Given the description of an element on the screen output the (x, y) to click on. 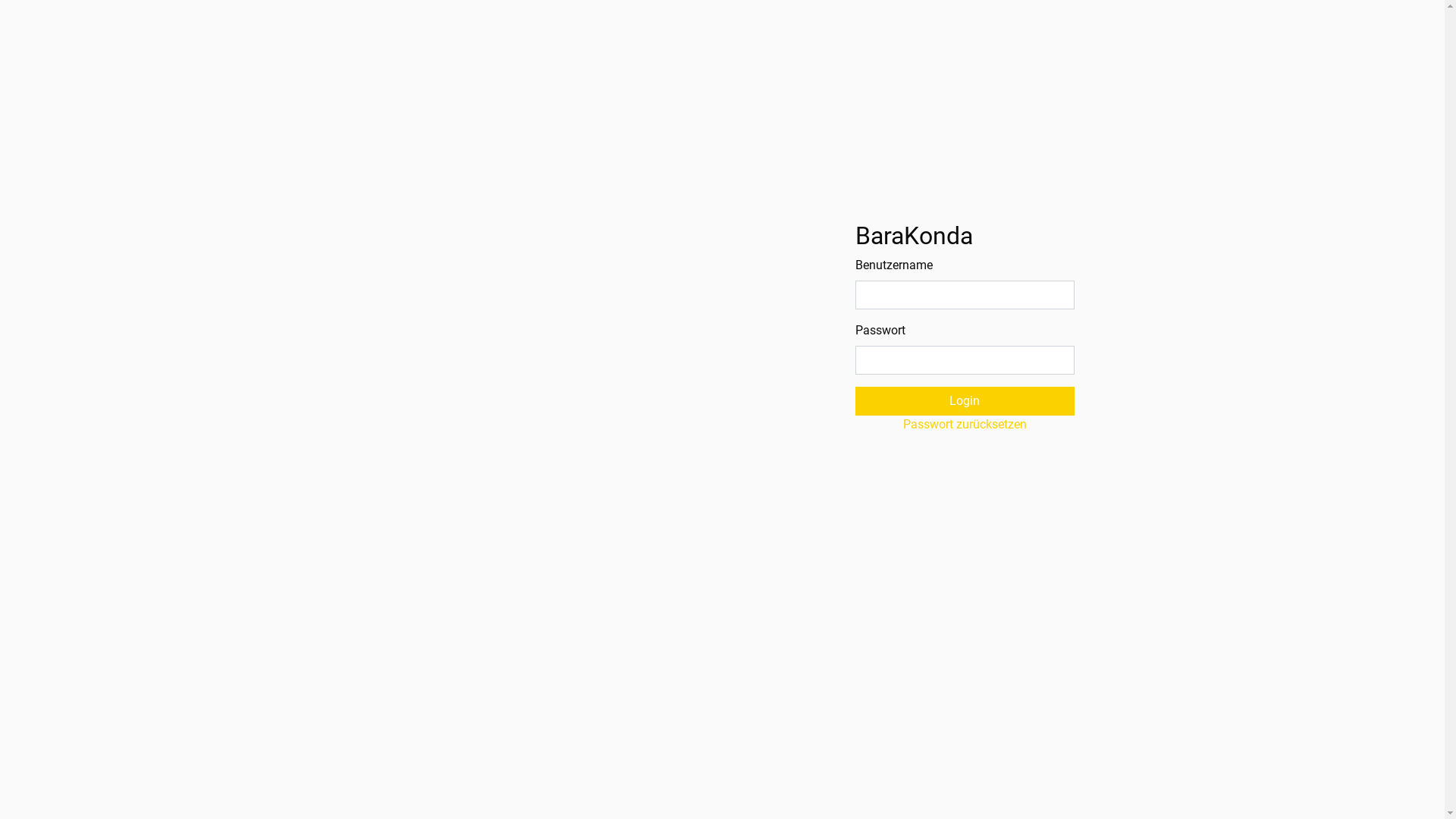
Login Element type: text (965, 400)
